Given the description of an element on the screen output the (x, y) to click on. 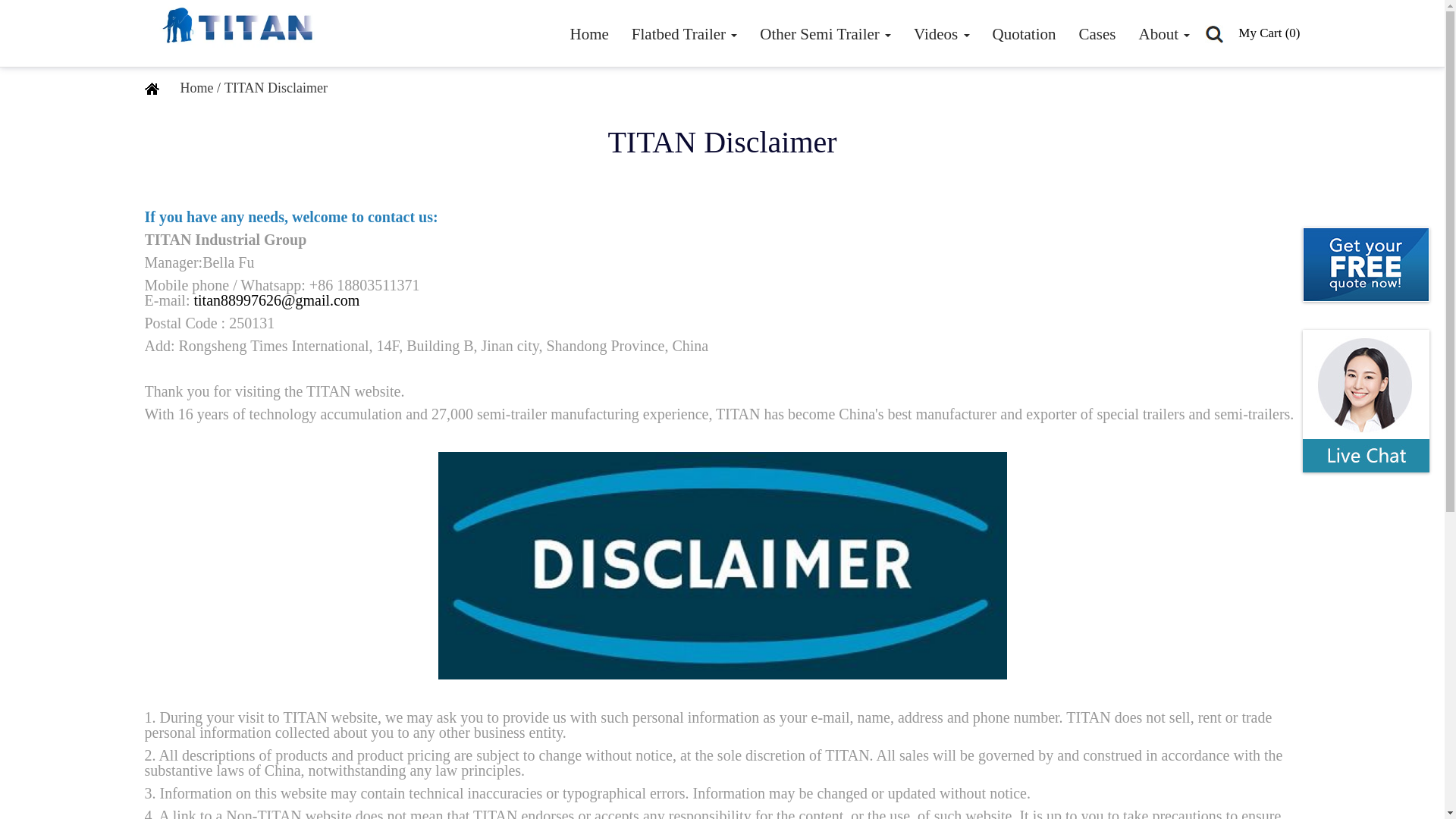
Videos (940, 33)
Other Semi Trailer (825, 33)
Flatbed Trailer (684, 33)
Home (588, 33)
Quotation (1024, 33)
